Given the description of an element on the screen output the (x, y) to click on. 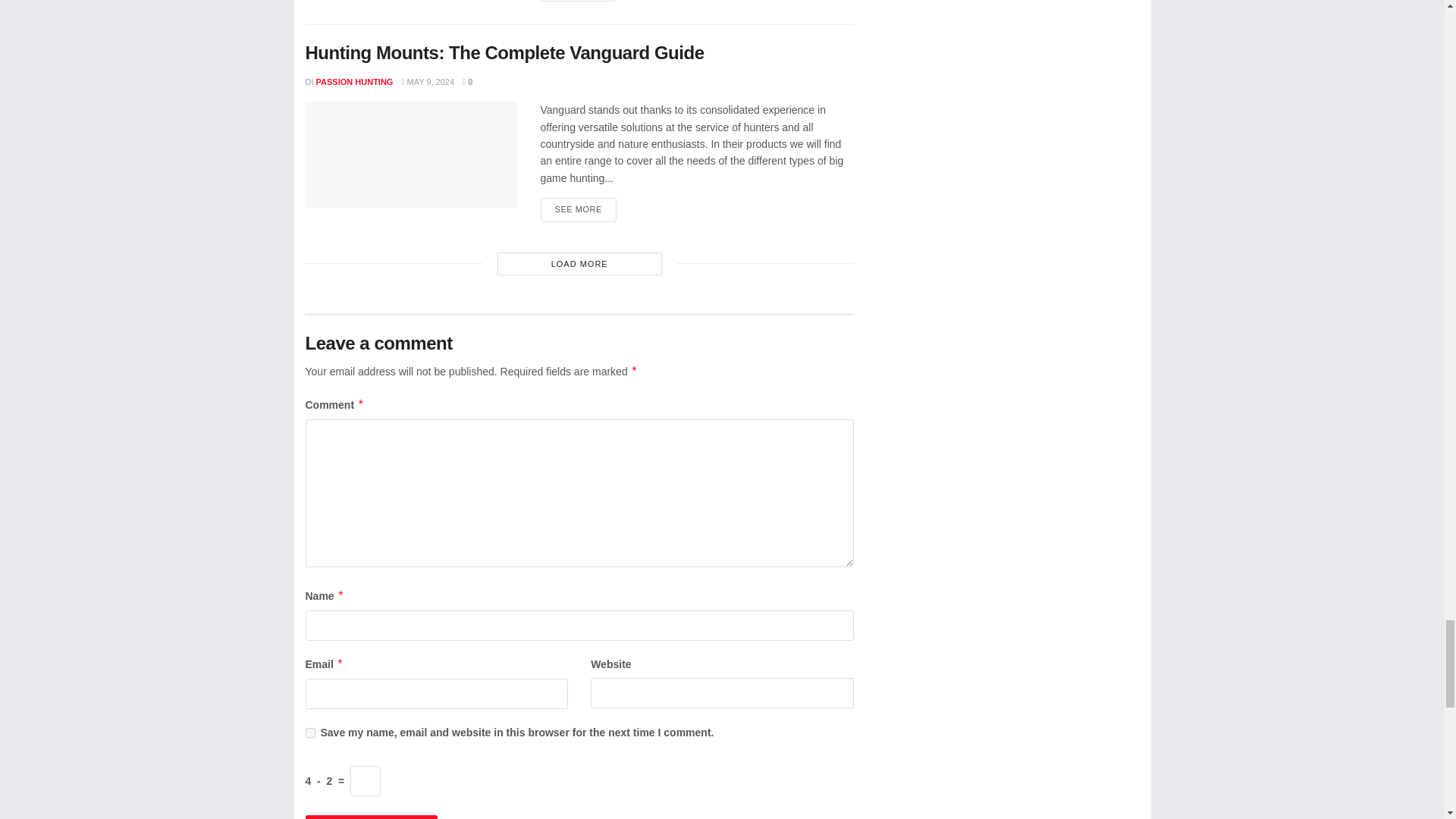
yes (309, 732)
Submit comment (371, 816)
